Given the description of an element on the screen output the (x, y) to click on. 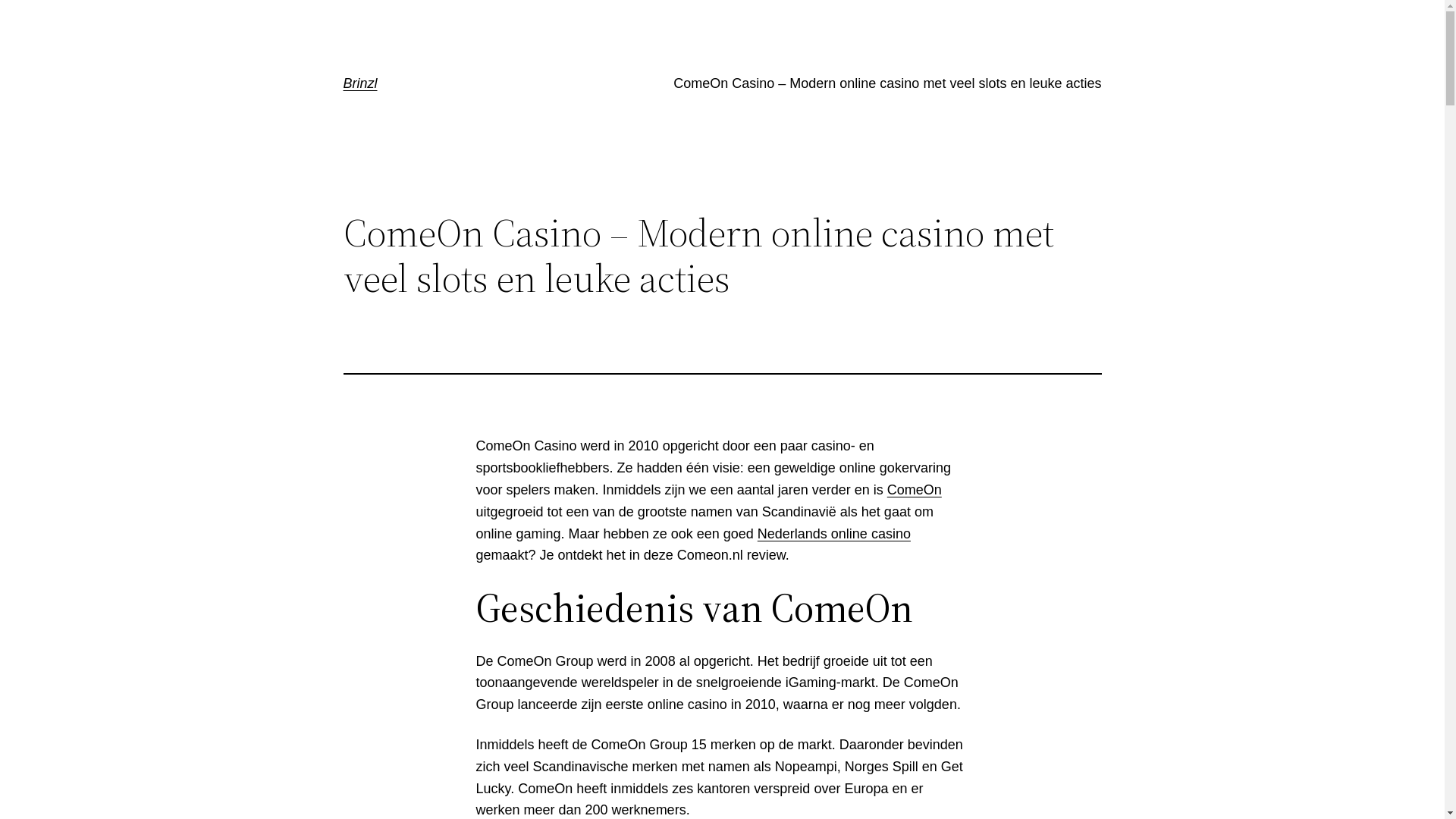
ComeOn Element type: text (914, 489)
Brinzl Element type: text (359, 83)
Nederlands online casino Element type: text (833, 533)
